Given the description of an element on the screen output the (x, y) to click on. 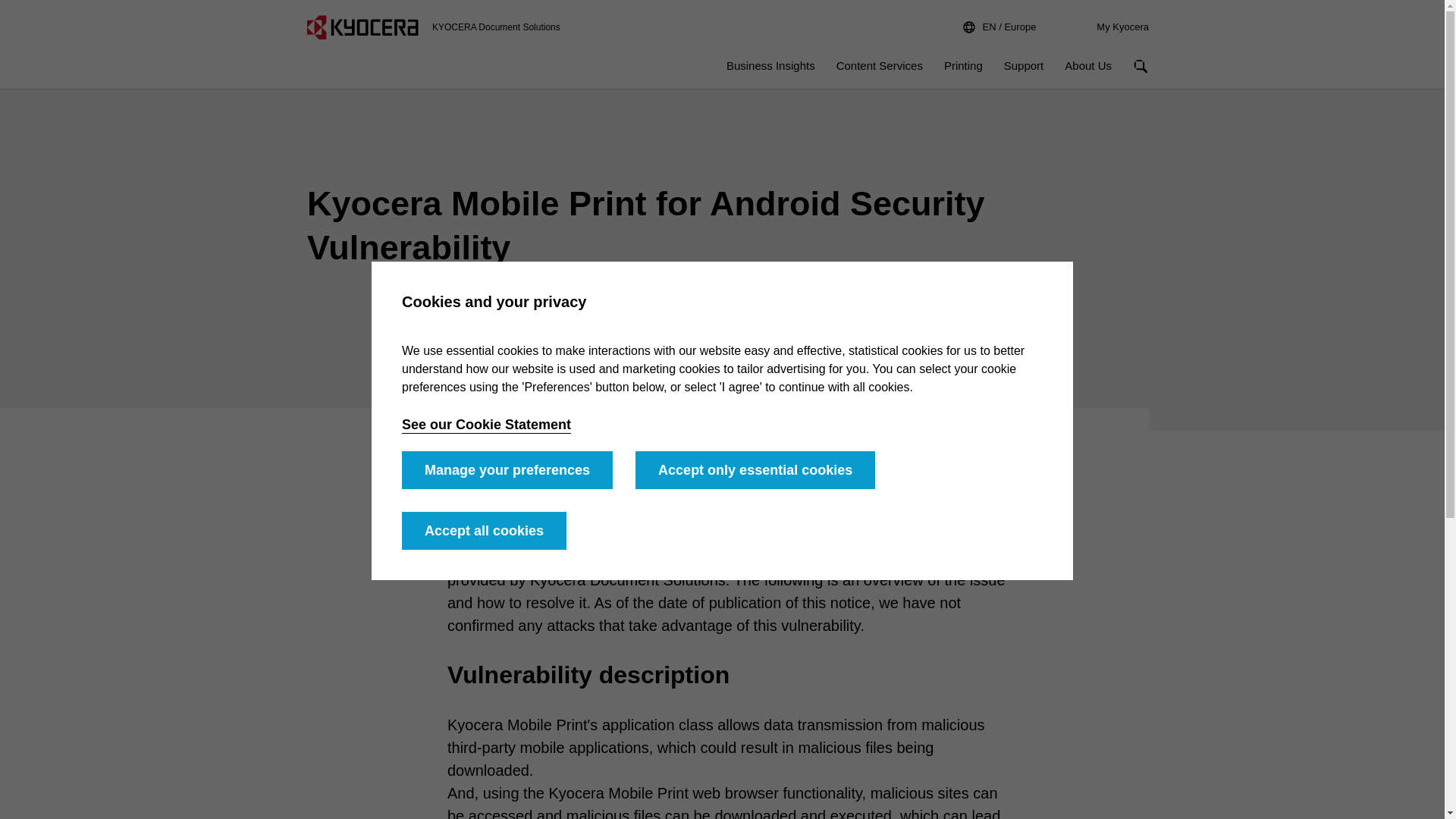
My Kyocera (1122, 27)
KYOCERA Document Solutions (363, 27)
Business Insights (770, 65)
Content Services (999, 27)
